Given the description of an element on the screen output the (x, y) to click on. 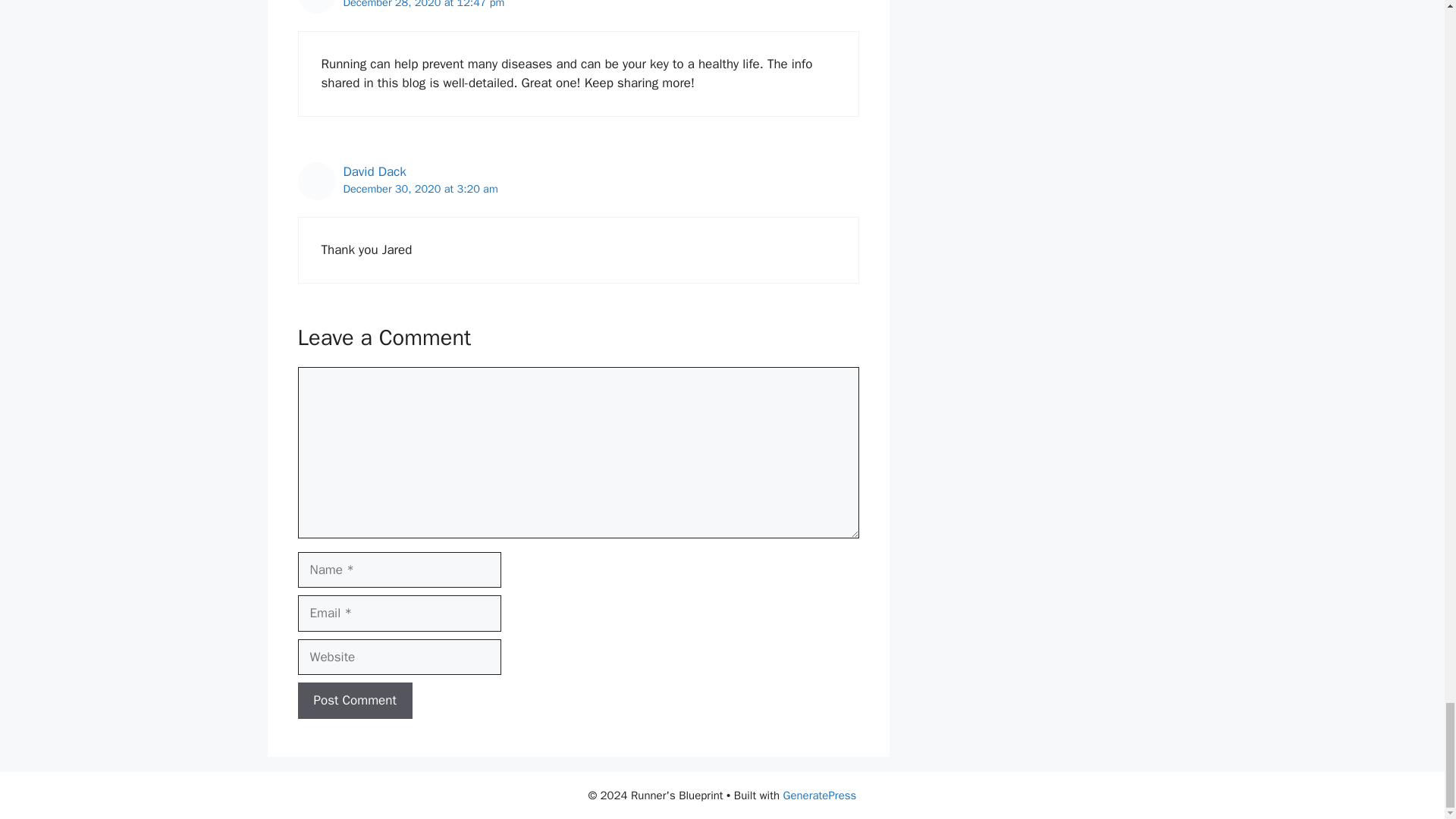
Post Comment (354, 700)
